Given the description of an element on the screen output the (x, y) to click on. 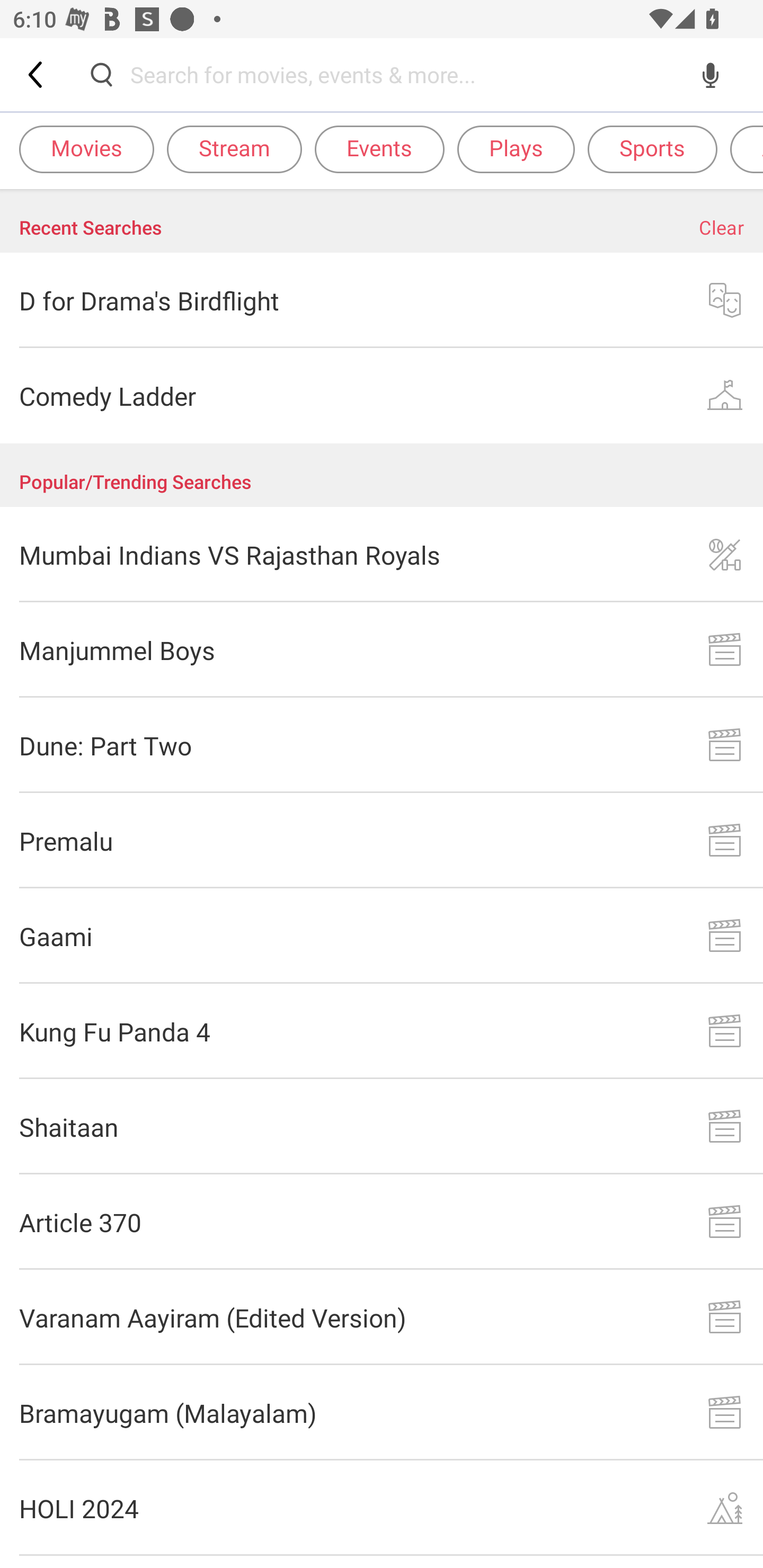
Back (36, 74)
Search for movies, events & more... (406, 74)
Movies (86, 148)
Stream (234, 148)
Events (379, 148)
Plays (515, 148)
Sports (652, 148)
Recent Searches Clear (381, 220)
D for Drama's Birdflight (381, 300)
Comedy Ladder (381, 395)
Popular/Trending Searches (381, 474)
Mumbai Indians VS Rajasthan Royals (381, 554)
Manjummel Boys (381, 649)
Dune: Part Two (381, 745)
Premalu (381, 841)
Gaami (381, 936)
Kung Fu Panda 4 (381, 1030)
Shaitaan (381, 1126)
Article 370 (381, 1222)
Varanam Aayiram (Edited Version) (381, 1317)
Bramayugam (Malayalam) (381, 1412)
HOLI 2024 (381, 1507)
